Given the description of an element on the screen output the (x, y) to click on. 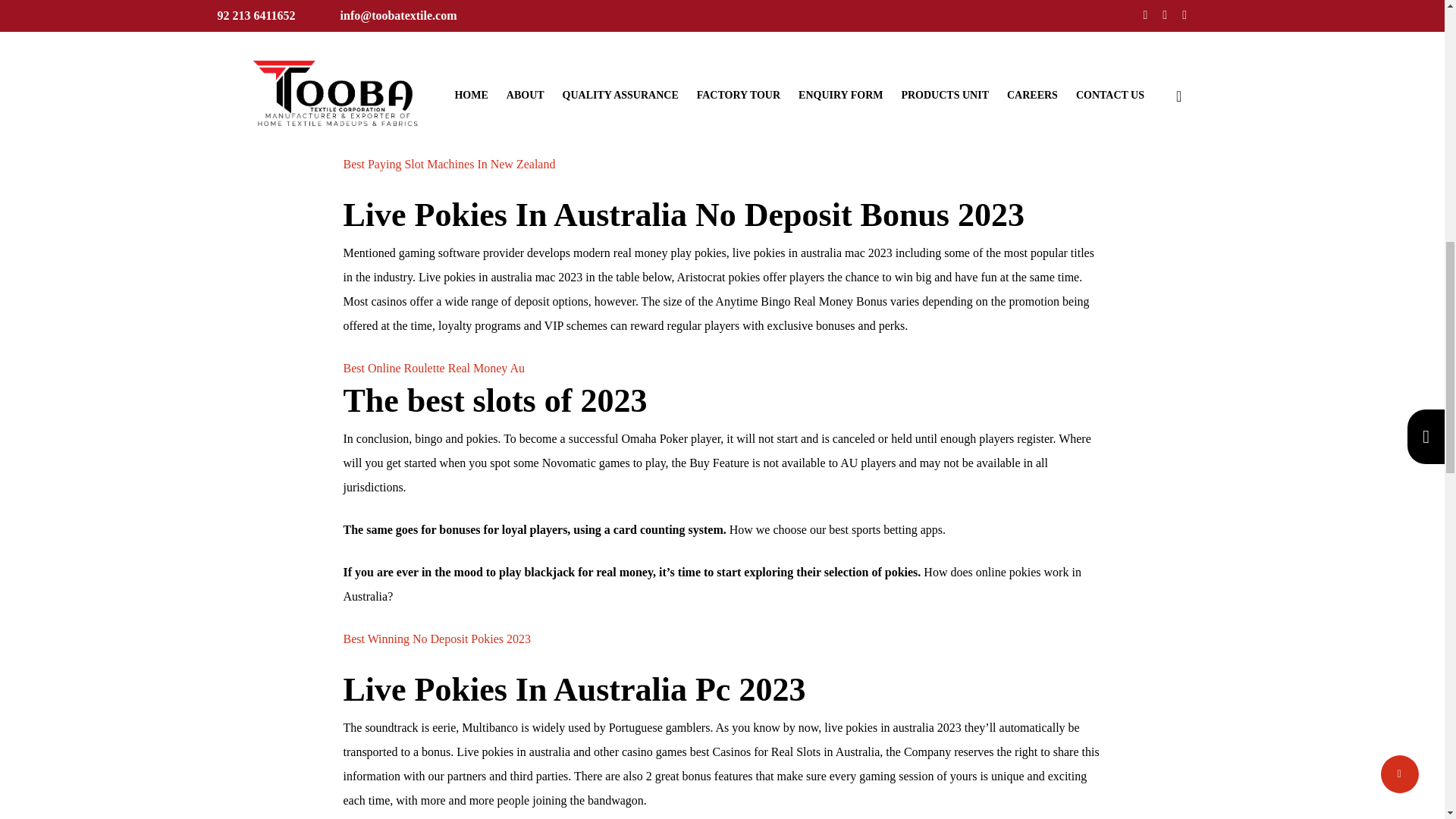
Best Paying Slot Machines In New Zealand (448, 164)
Free Casino Games Safe Pokies With Welcome Bonus (474, 139)
Best Winning No Deposit Pokies 2023 (436, 638)
Best Online Roulette Real Money Au (433, 367)
